Given the description of an element on the screen output the (x, y) to click on. 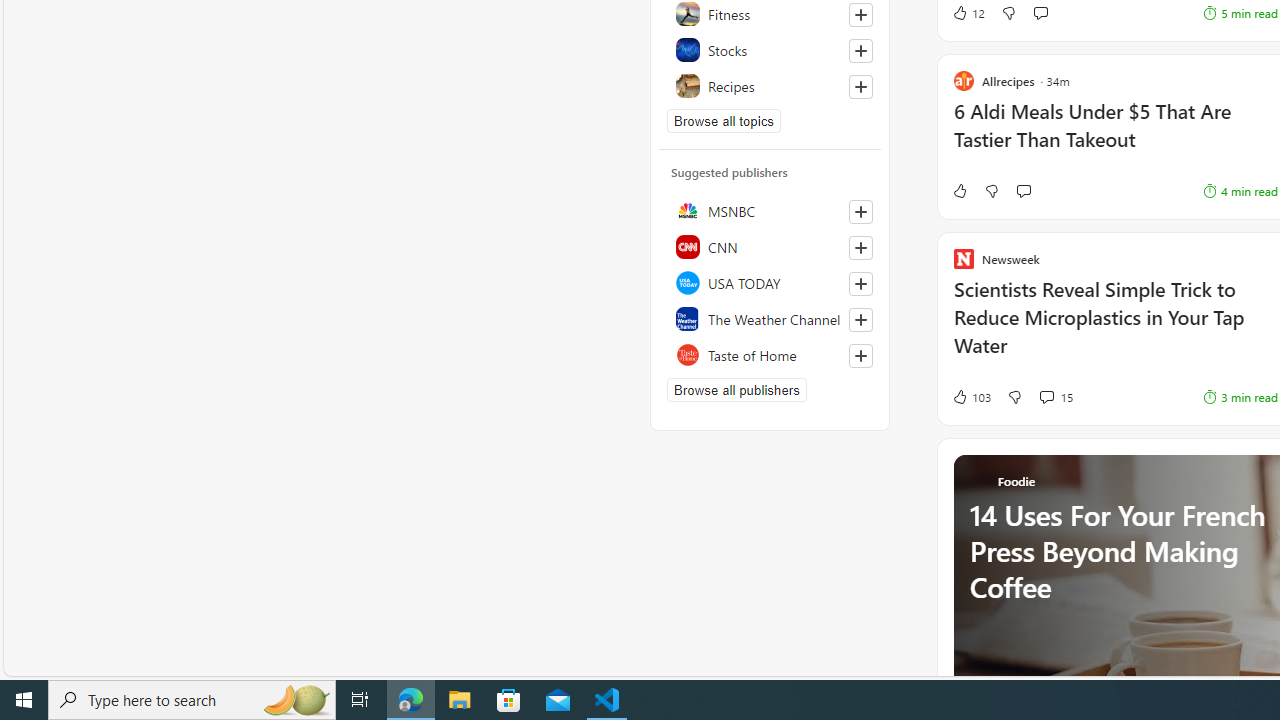
103 Like (970, 396)
MSNBC (770, 210)
View comments 15 Comment (1055, 396)
USA TODAY (770, 282)
Browse all publishers (736, 389)
CNN (770, 246)
Follow this source (860, 355)
Like (959, 191)
Follow this topic (860, 86)
